Given the description of an element on the screen output the (x, y) to click on. 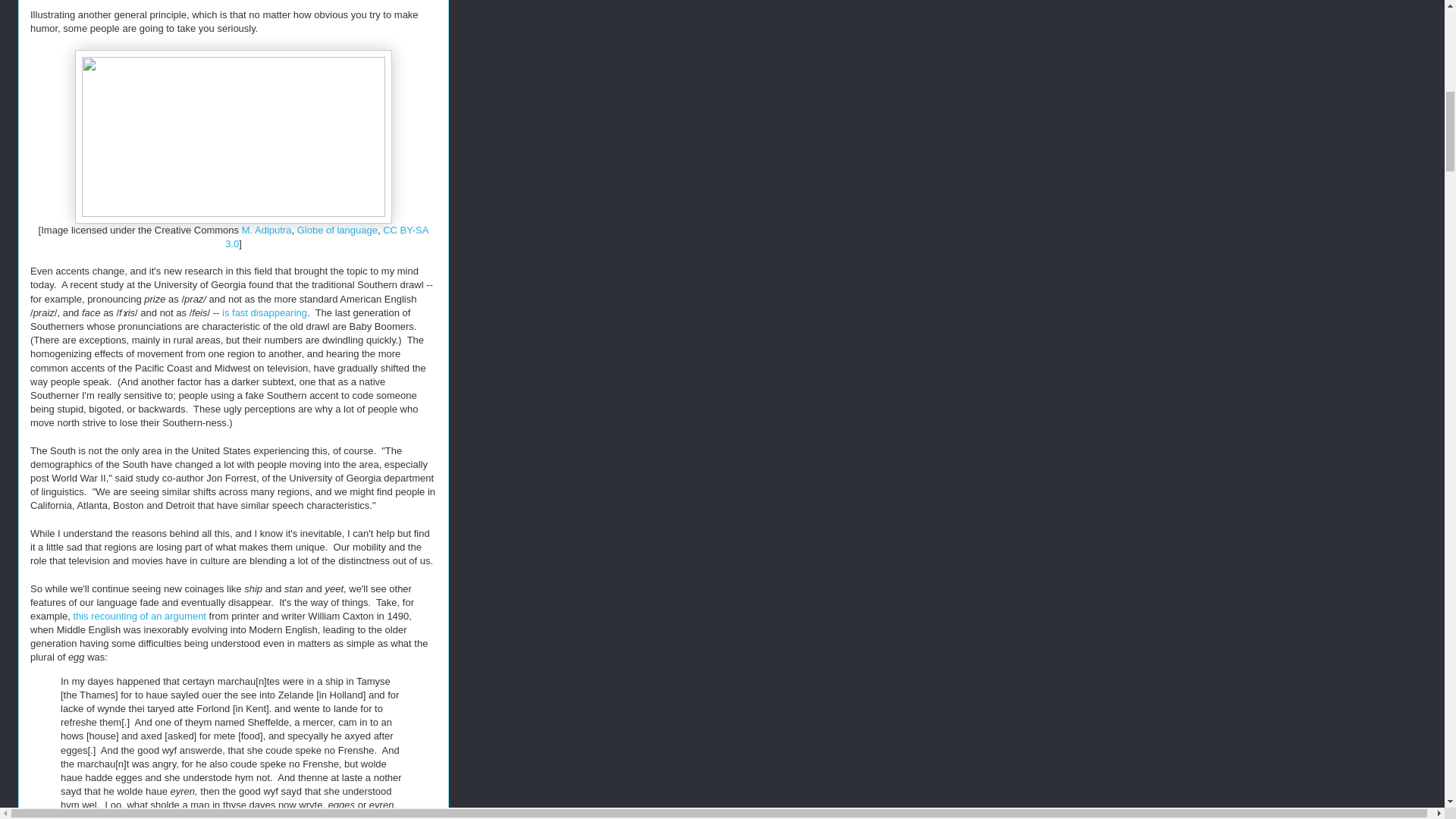
CC BY-SA 3.0 (326, 236)
this recounting of an argument (139, 615)
Globe of language (337, 229)
M. Adiputra (266, 229)
is fast disappearing (264, 312)
